Given the description of an element on the screen output the (x, y) to click on. 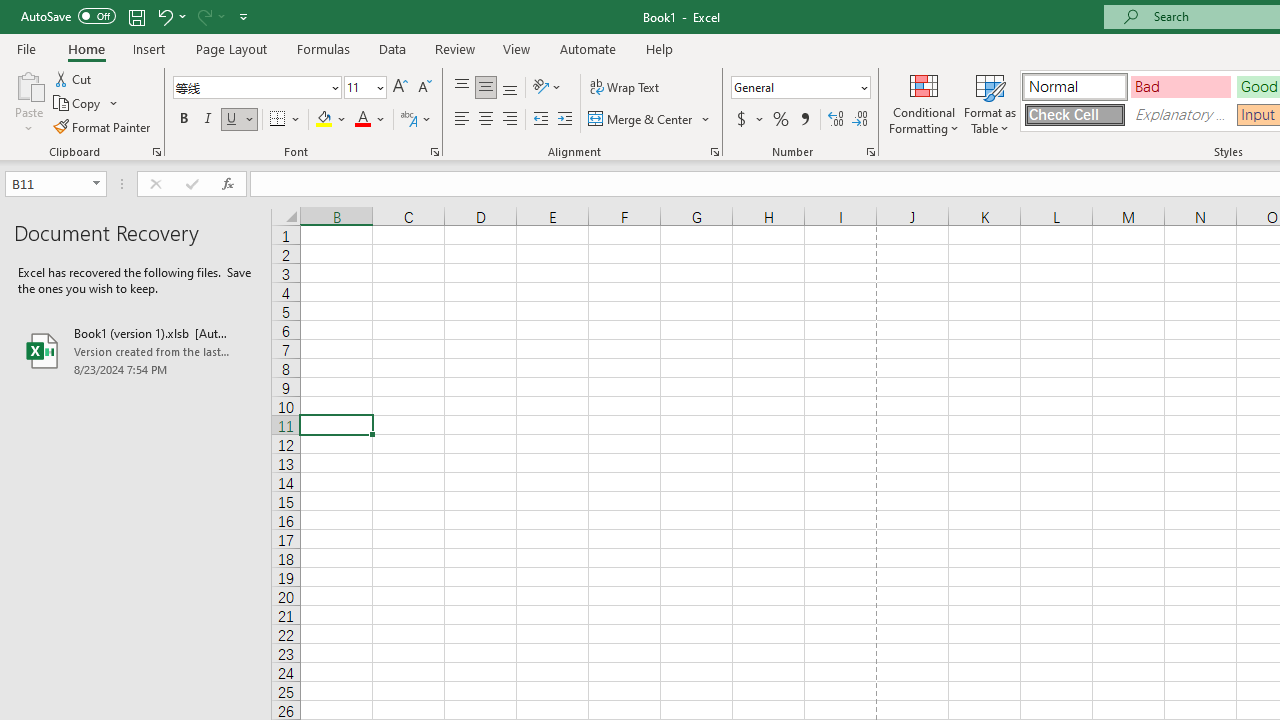
Name Box (56, 183)
Show Phonetic Field (416, 119)
Cut (73, 78)
Font (250, 87)
Font (256, 87)
Underline (232, 119)
Name Box (46, 183)
Merge & Center (641, 119)
Increase Indent (565, 119)
Redo (203, 15)
System (10, 11)
Number Format (794, 87)
Format Cell Number (870, 151)
Align Left (461, 119)
Show Phonetic Field (408, 119)
